Given the description of an element on the screen output the (x, y) to click on. 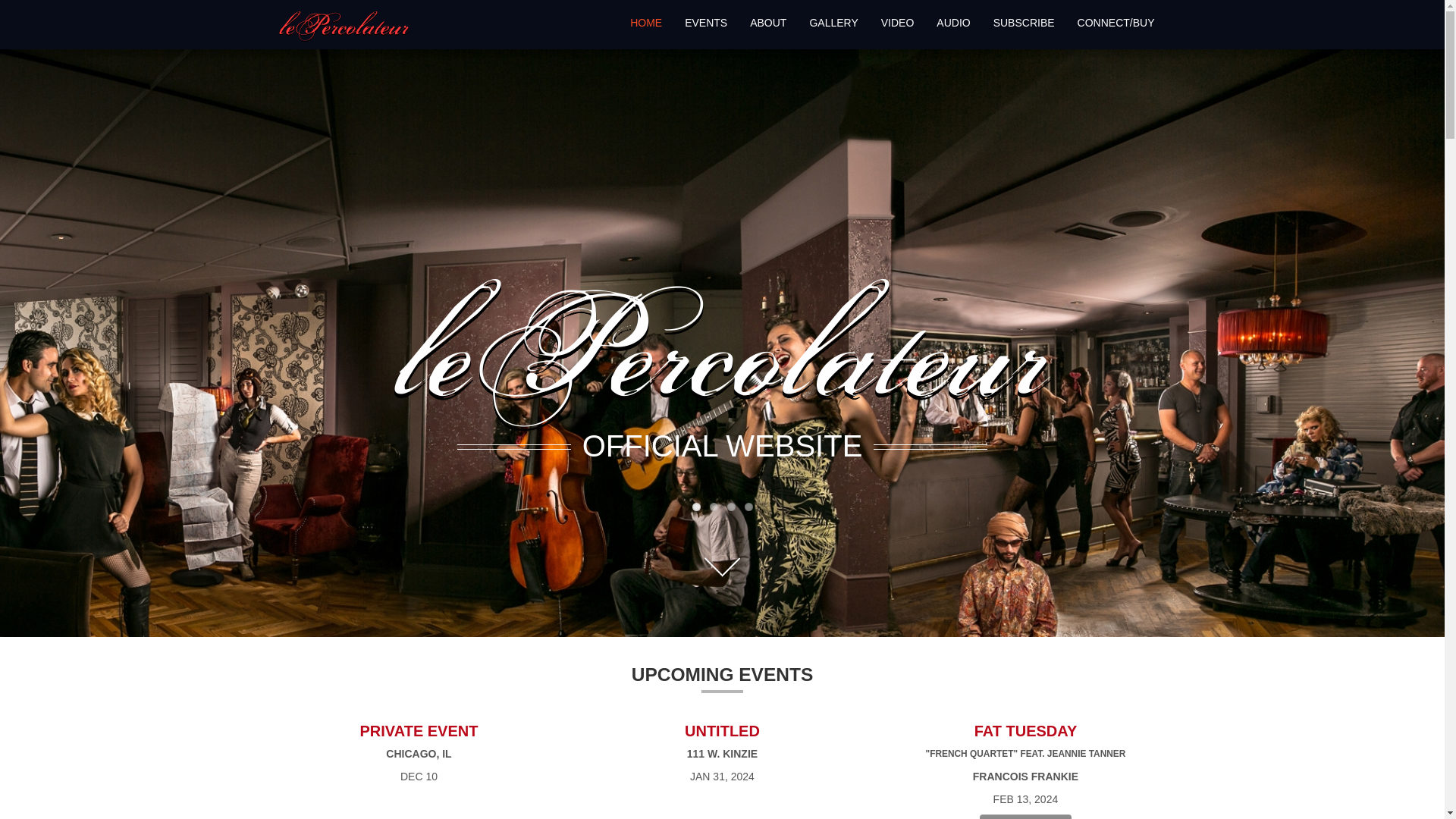
VIDEO (897, 22)
EVENTS (705, 22)
HOME (645, 22)
AUDIO (952, 22)
4 (748, 506)
GALLERY (833, 22)
3 (730, 506)
SUBSCRIBE (1023, 22)
2 (713, 506)
1 (695, 506)
ABOUT (767, 22)
VENUE INFO (1025, 816)
